Given the description of an element on the screen output the (x, y) to click on. 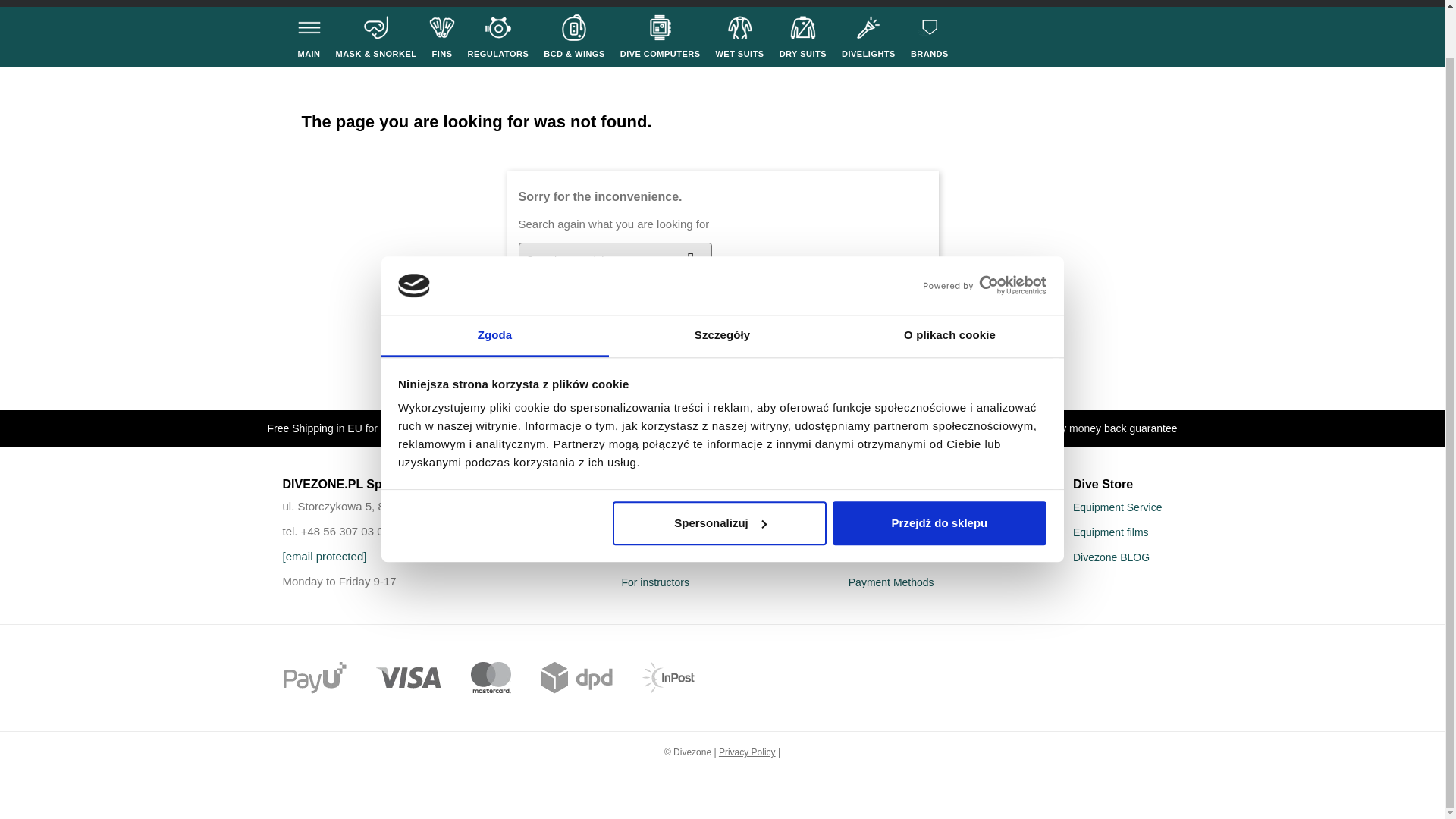
Zgoda (494, 285)
O plikach cookie (948, 285)
